Given the description of an element on the screen output the (x, y) to click on. 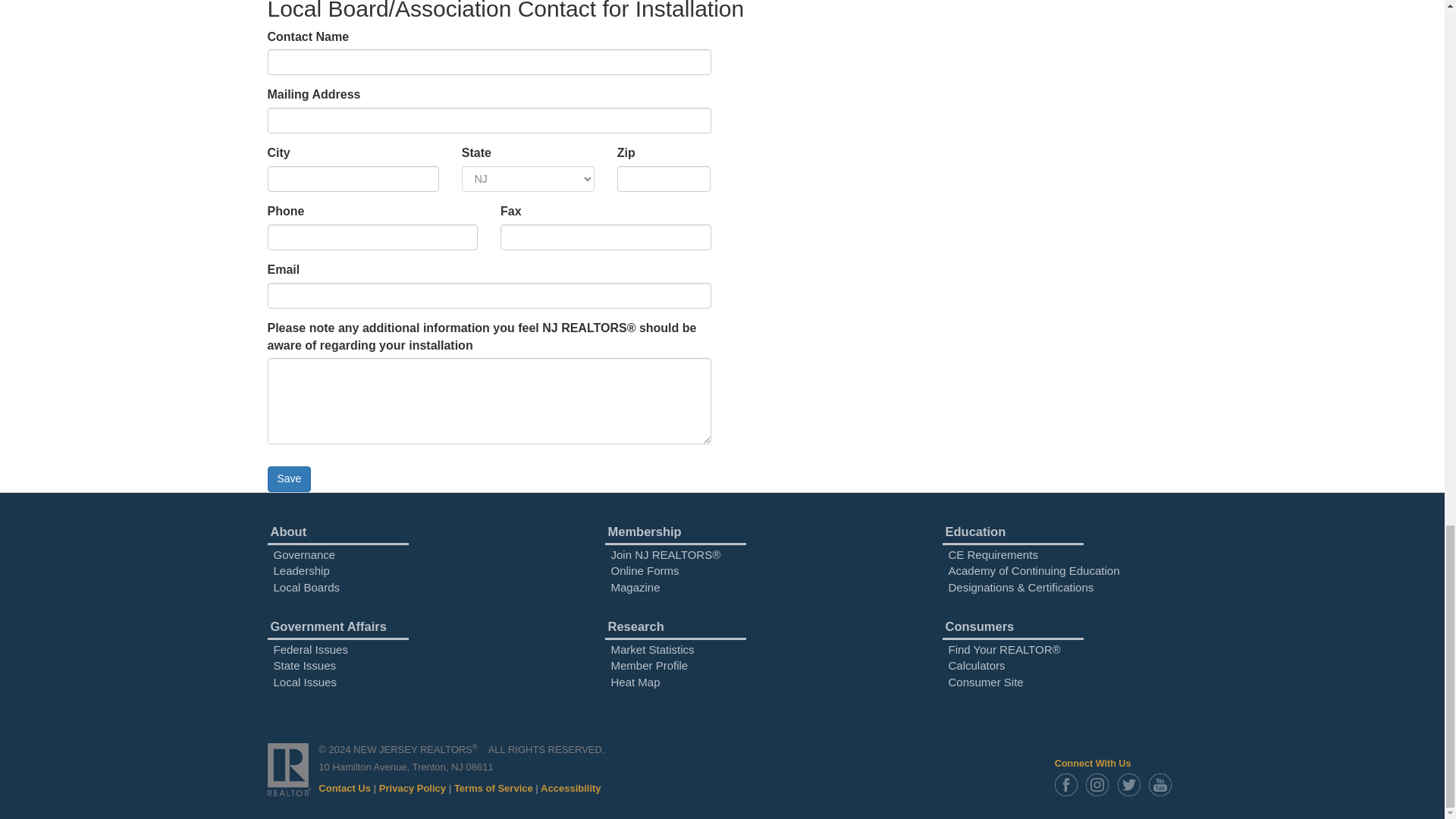
Member Profile (649, 665)
Twitter (1132, 784)
Save (288, 479)
Facebook (1068, 784)
Online Forms (645, 570)
Leadership (301, 570)
Academy of Continuing Education (1033, 570)
State Issues (304, 665)
Magazine (636, 586)
Local Boards (306, 586)
CE Requirements (991, 554)
Local Issues (304, 681)
Market Statistics (652, 649)
YouTube (1162, 784)
Heat Map (636, 681)
